Given the description of an element on the screen output the (x, y) to click on. 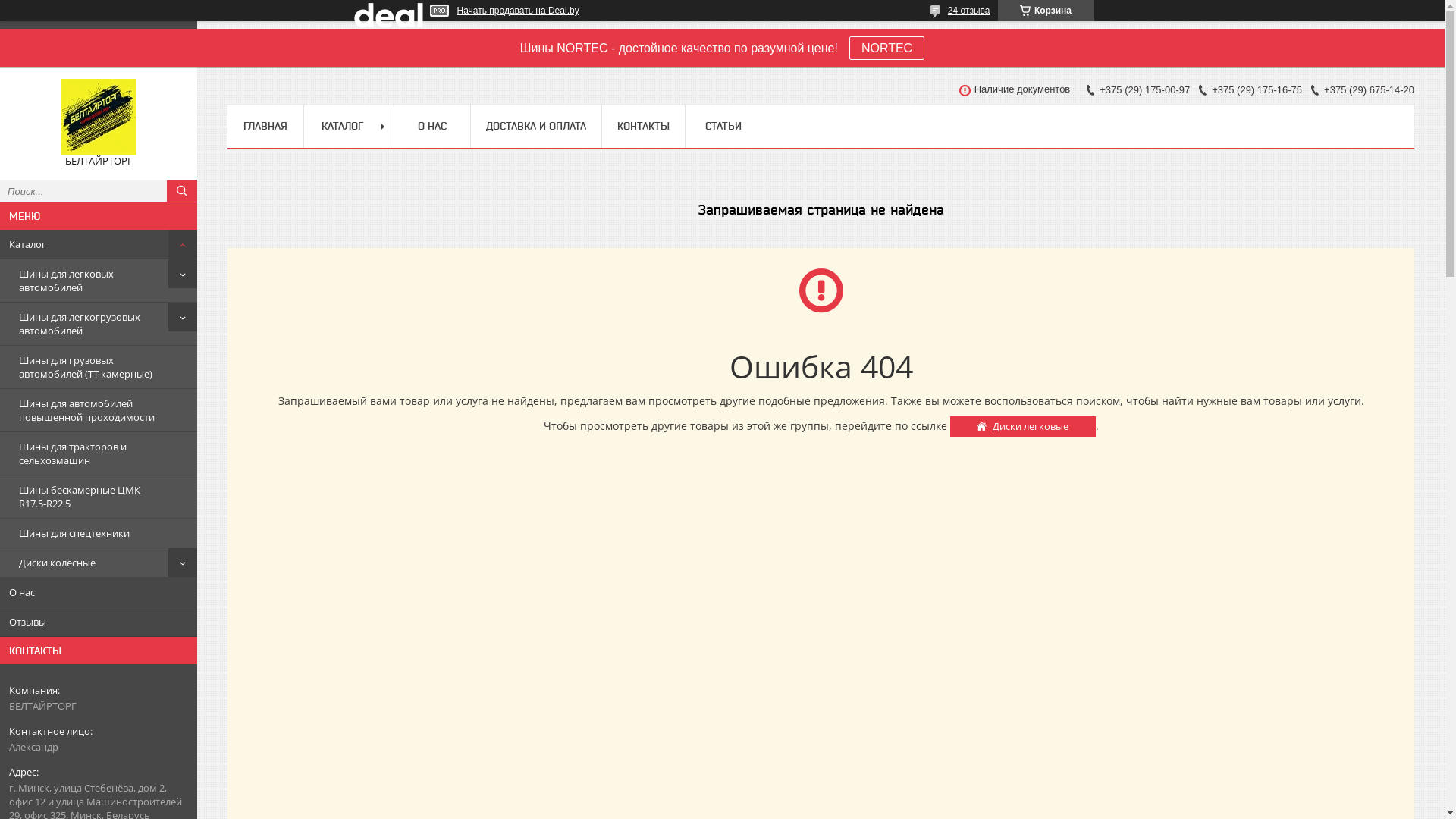
NORTEC Element type: text (886, 47)
